Given the description of an element on the screen output the (x, y) to click on. 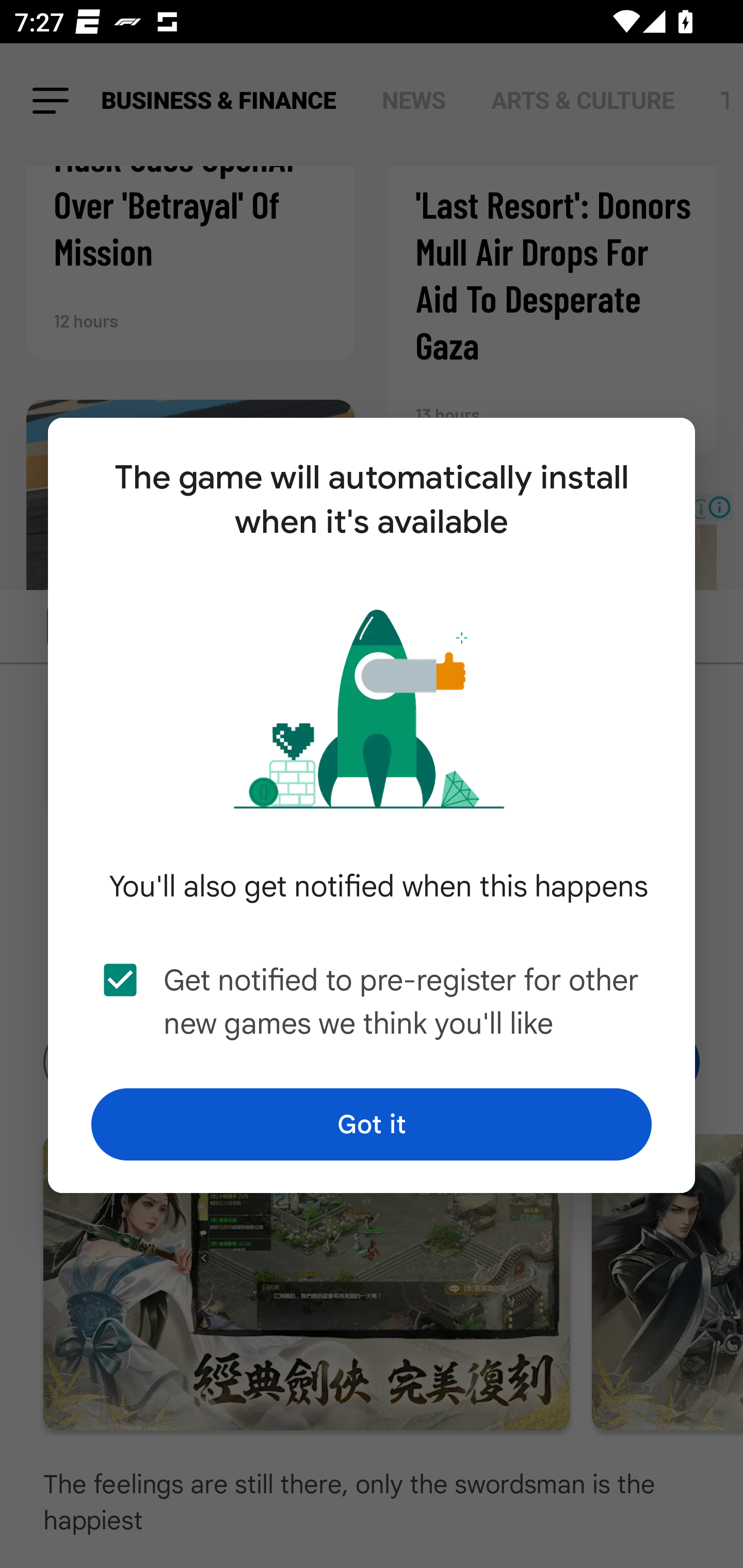
Got it (371, 1124)
